Given the description of an element on the screen output the (x, y) to click on. 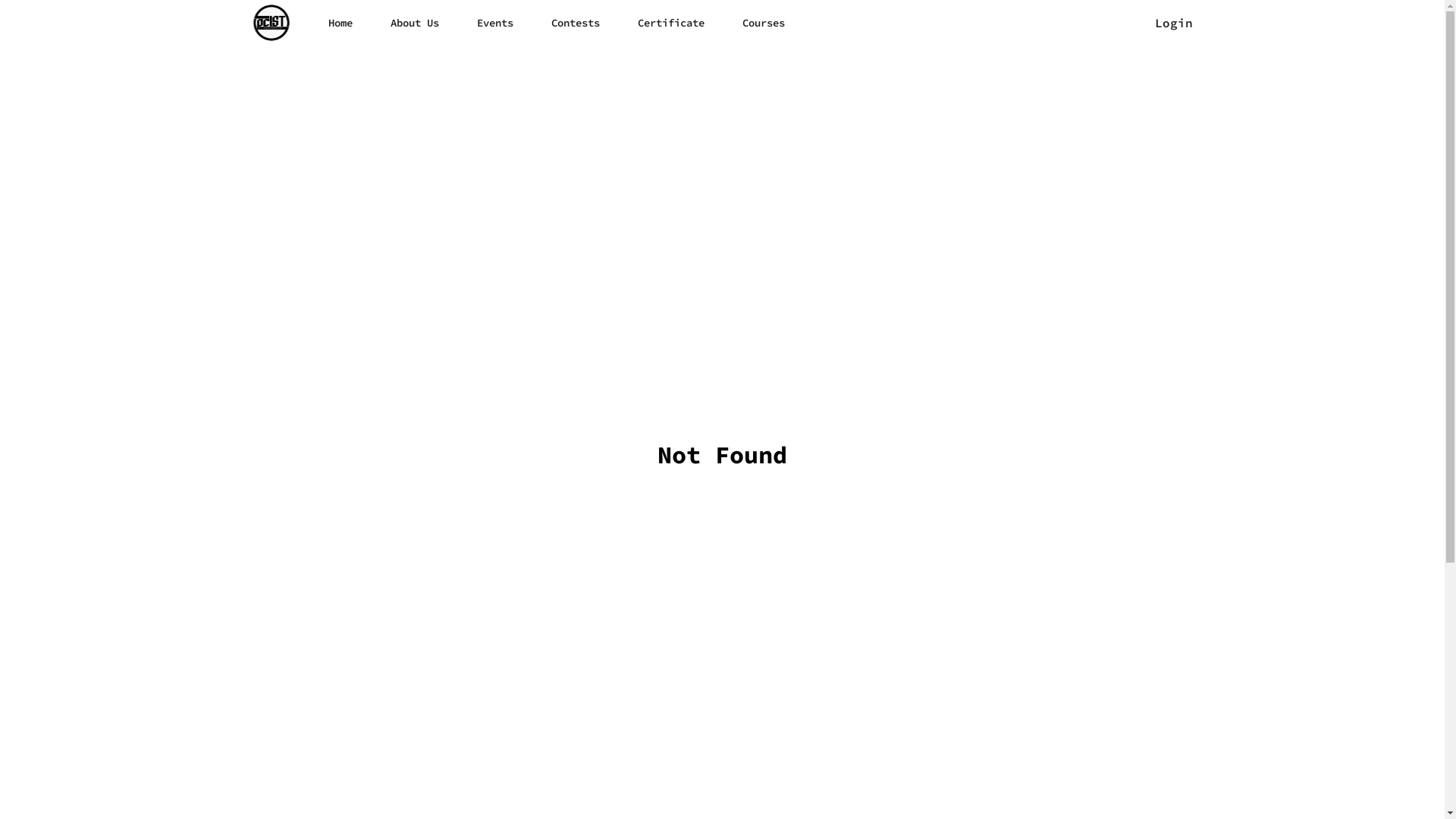
Contests Element type: text (574, 22)
Courses Element type: text (762, 22)
Home Element type: text (339, 22)
Login Element type: text (1173, 22)
About Us Element type: text (413, 22)
Certificate Element type: text (670, 22)
Events Element type: text (494, 22)
